Given the description of an element on the screen output the (x, y) to click on. 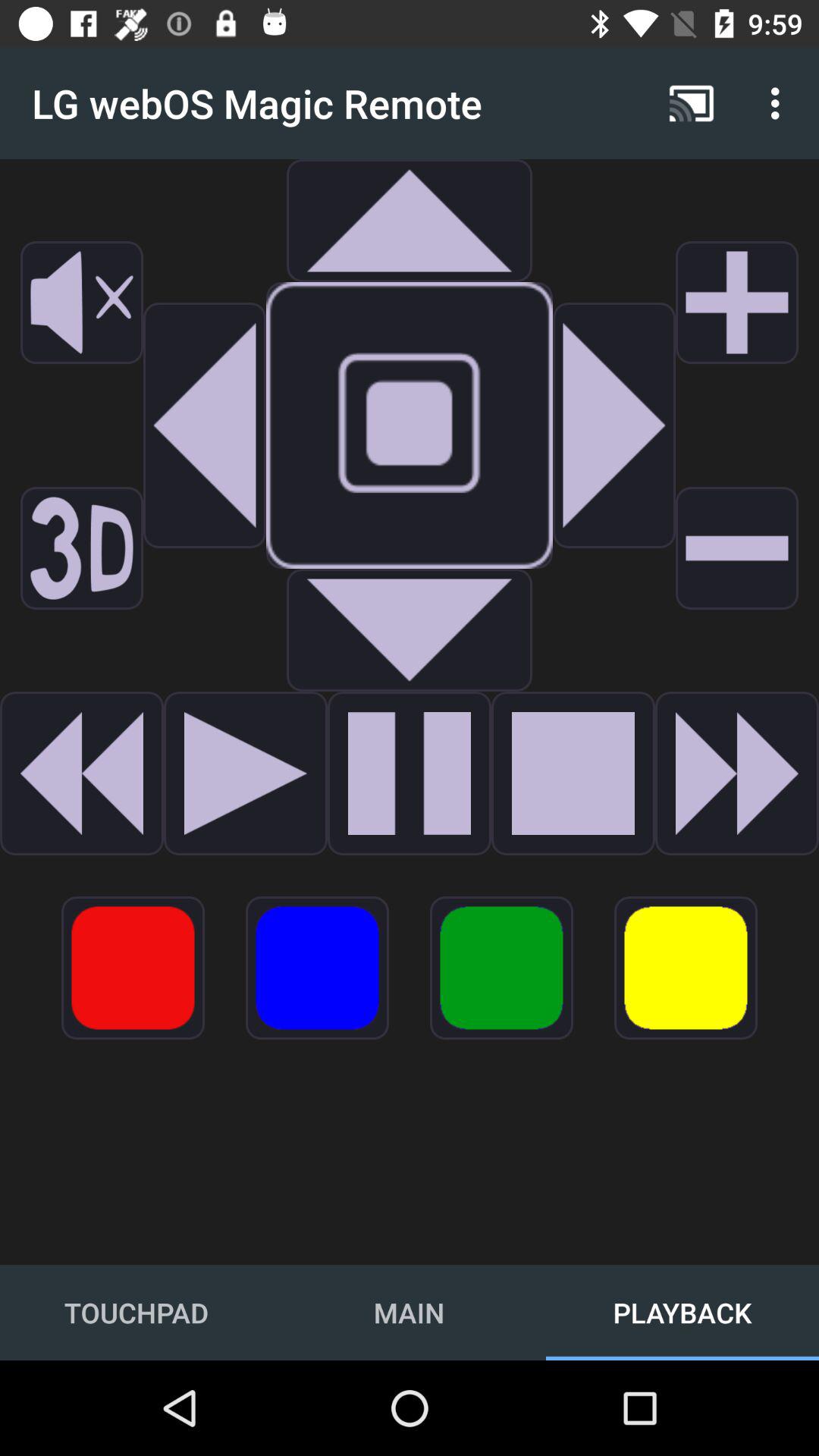
green button (501, 967)
